Given the description of an element on the screen output the (x, y) to click on. 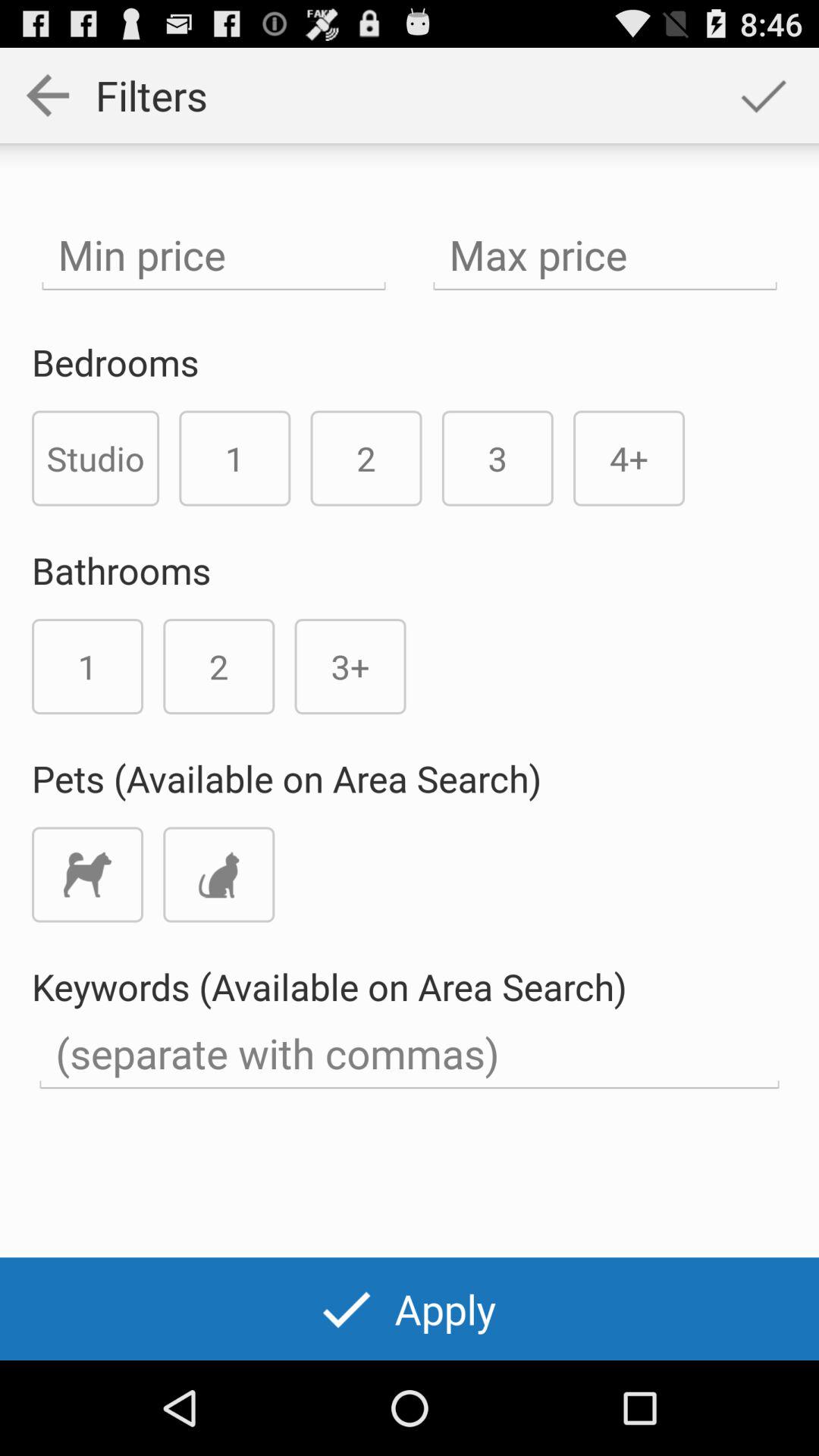
press the 4+ item (628, 458)
